Given the description of an element on the screen output the (x, y) to click on. 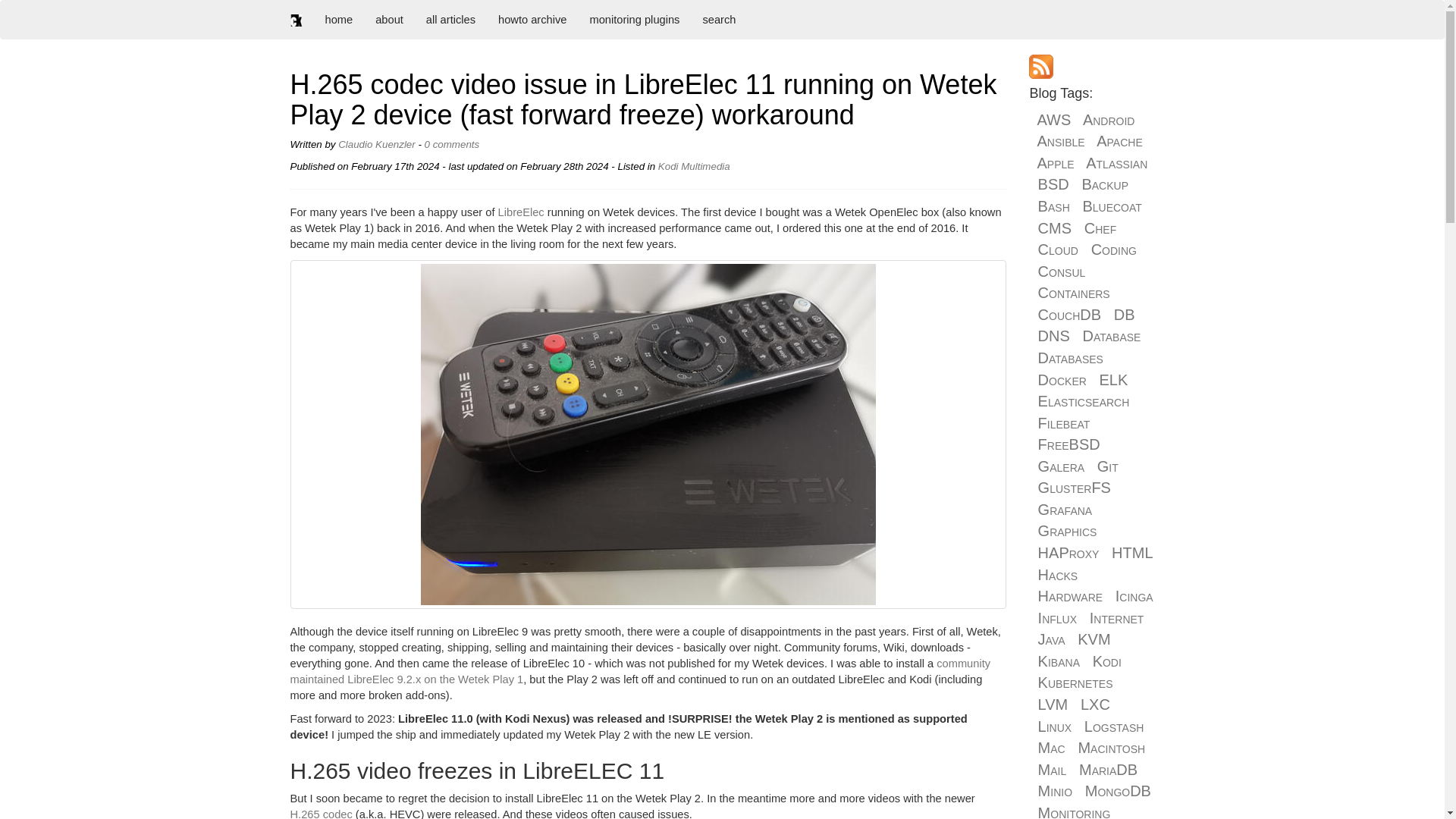
Chef (1100, 228)
Apple (1055, 162)
Bluecoat (1111, 206)
AWS (1053, 119)
Cloud (1058, 248)
Atlassian (1116, 162)
LibreElec (520, 212)
Kodi (668, 165)
0 comments (452, 143)
H.265 codec (320, 813)
